Given the description of an element on the screen output the (x, y) to click on. 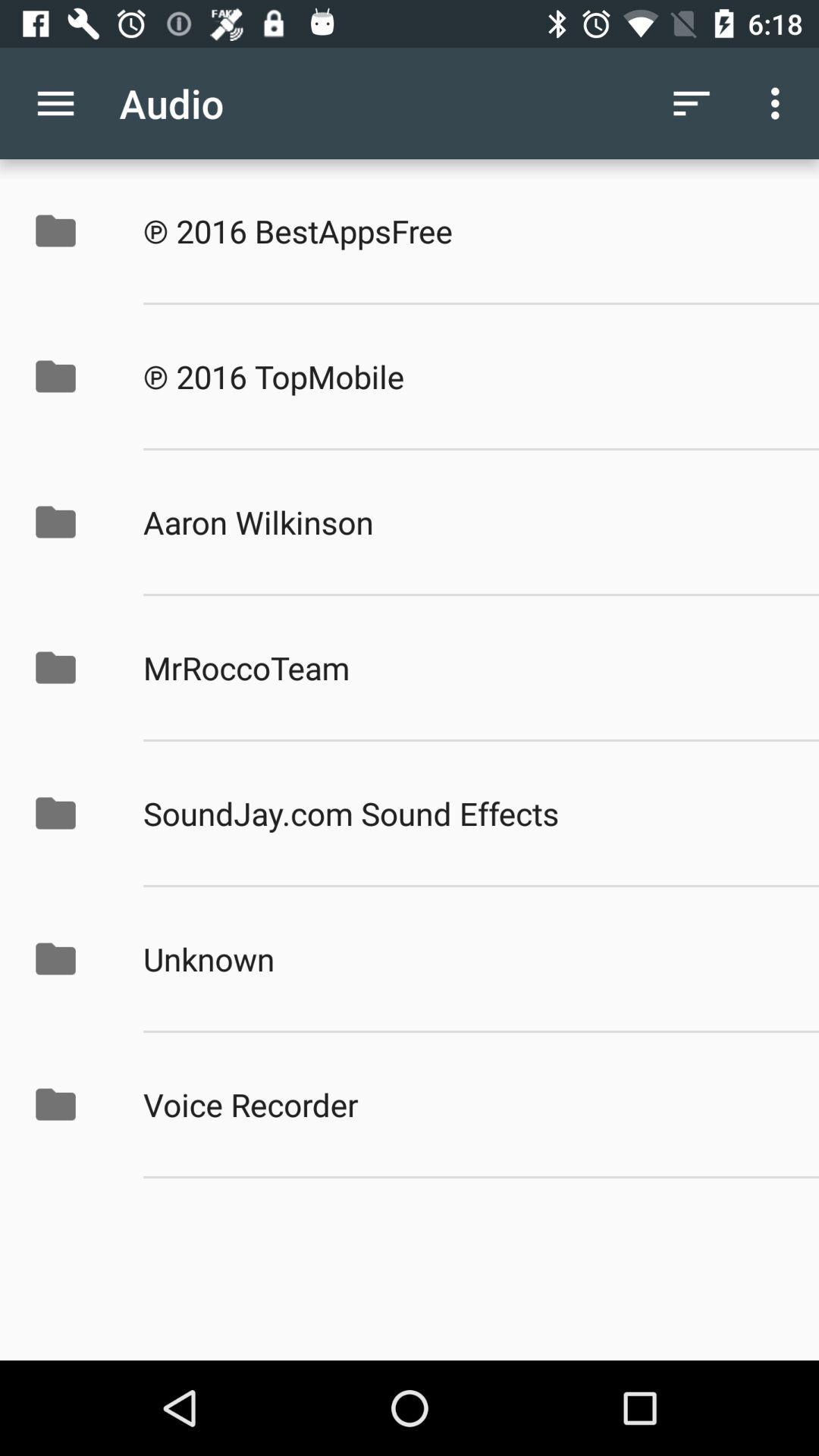
select the item to the left of audio (55, 103)
